Given the description of an element on the screen output the (x, y) to click on. 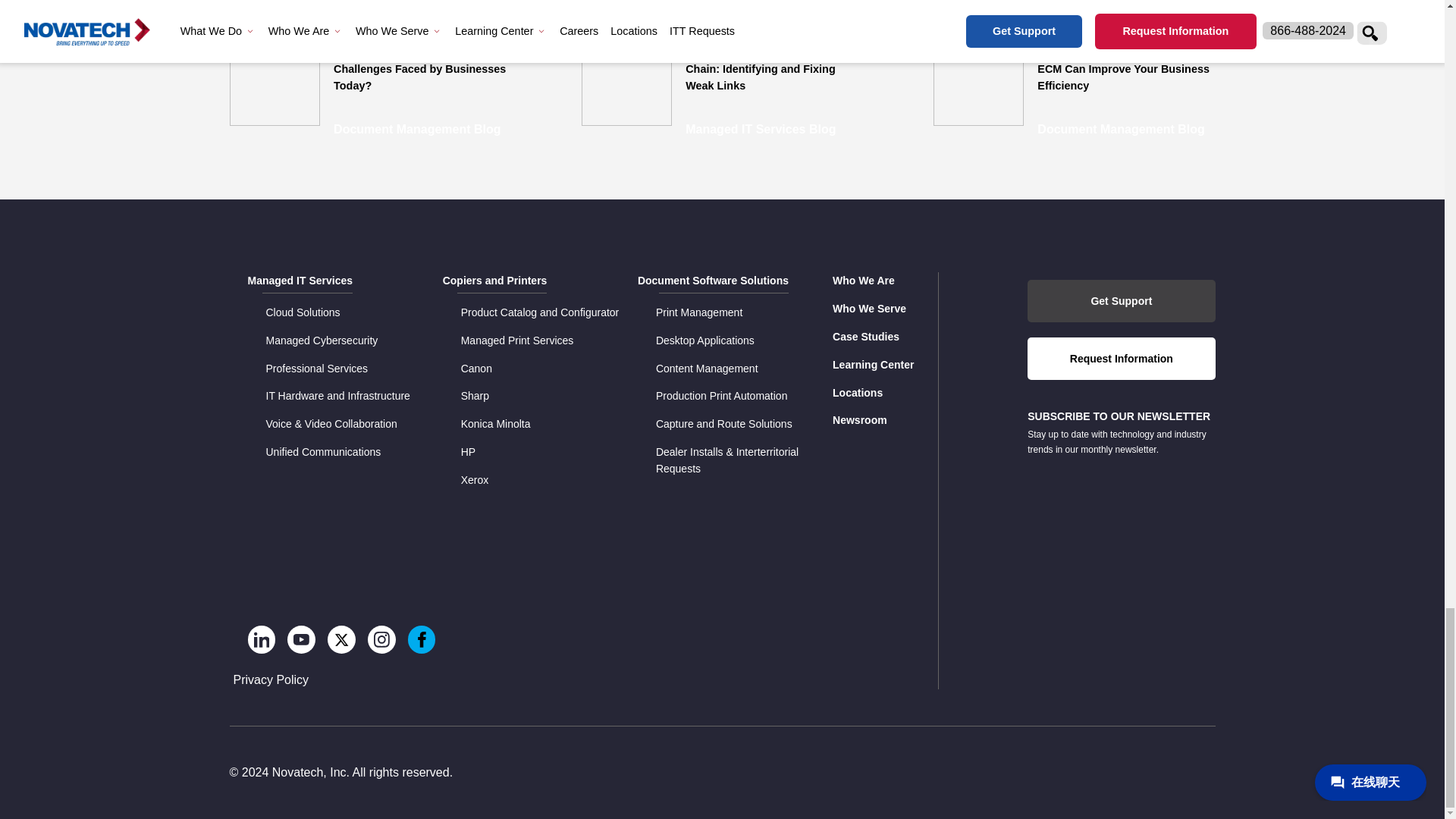
Form 0 (1120, 498)
